Given the description of an element on the screen output the (x, y) to click on. 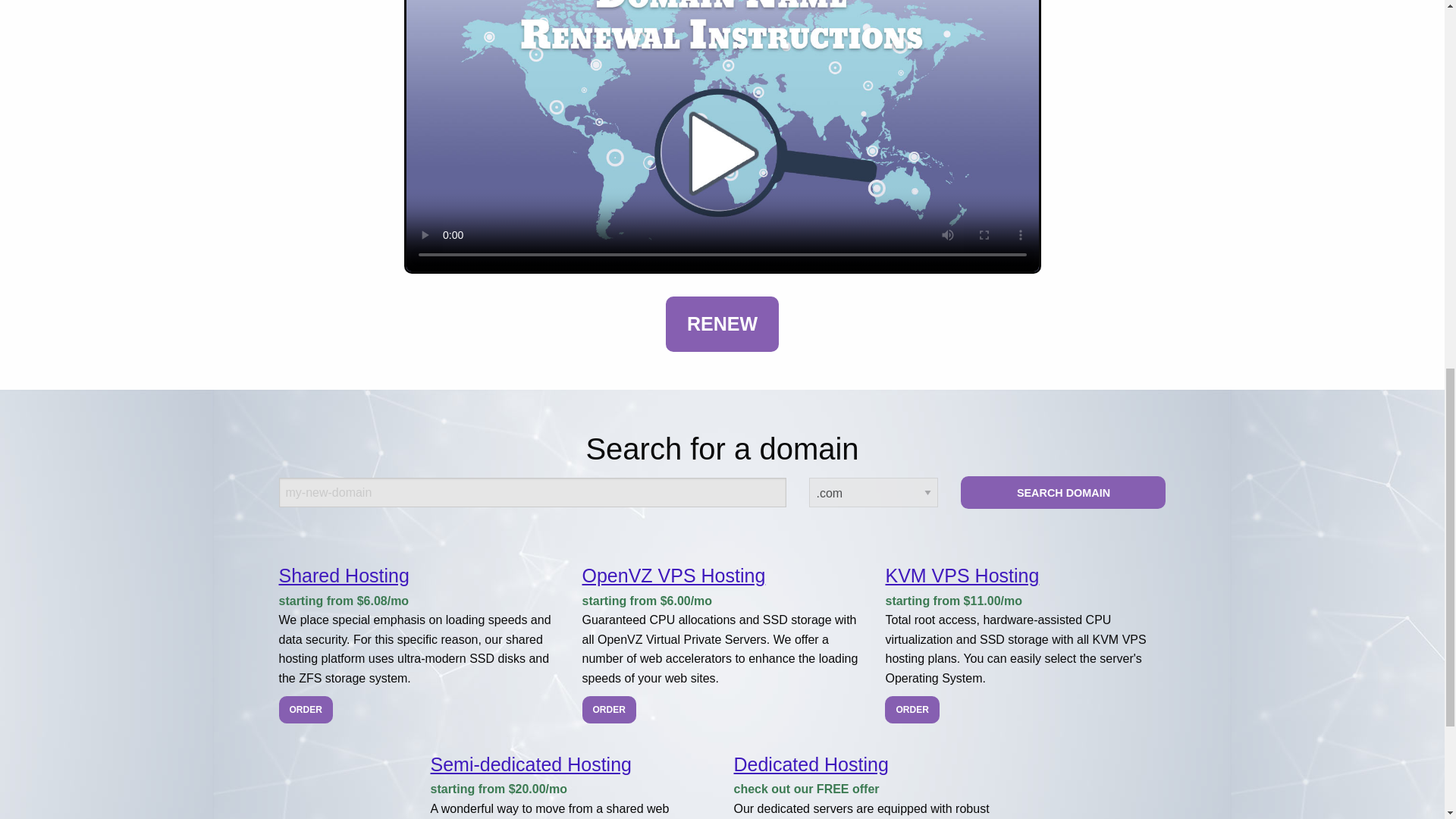
Shared Hosting (344, 575)
Search Domain (1063, 491)
Shared Hosting (344, 575)
Order (609, 709)
ORDER (609, 709)
Order (306, 709)
KVM VPS Hosting (962, 575)
SEARCH DOMAIN (1063, 491)
ORDER (912, 709)
Renew (721, 324)
Semi-dedicated Hosting (530, 763)
OpenVZ VPS Hosting (673, 575)
RENEW (721, 324)
Semi-dedicated Hosting (530, 763)
OpenVZ VPS Hosting (673, 575)
